Given the description of an element on the screen output the (x, y) to click on. 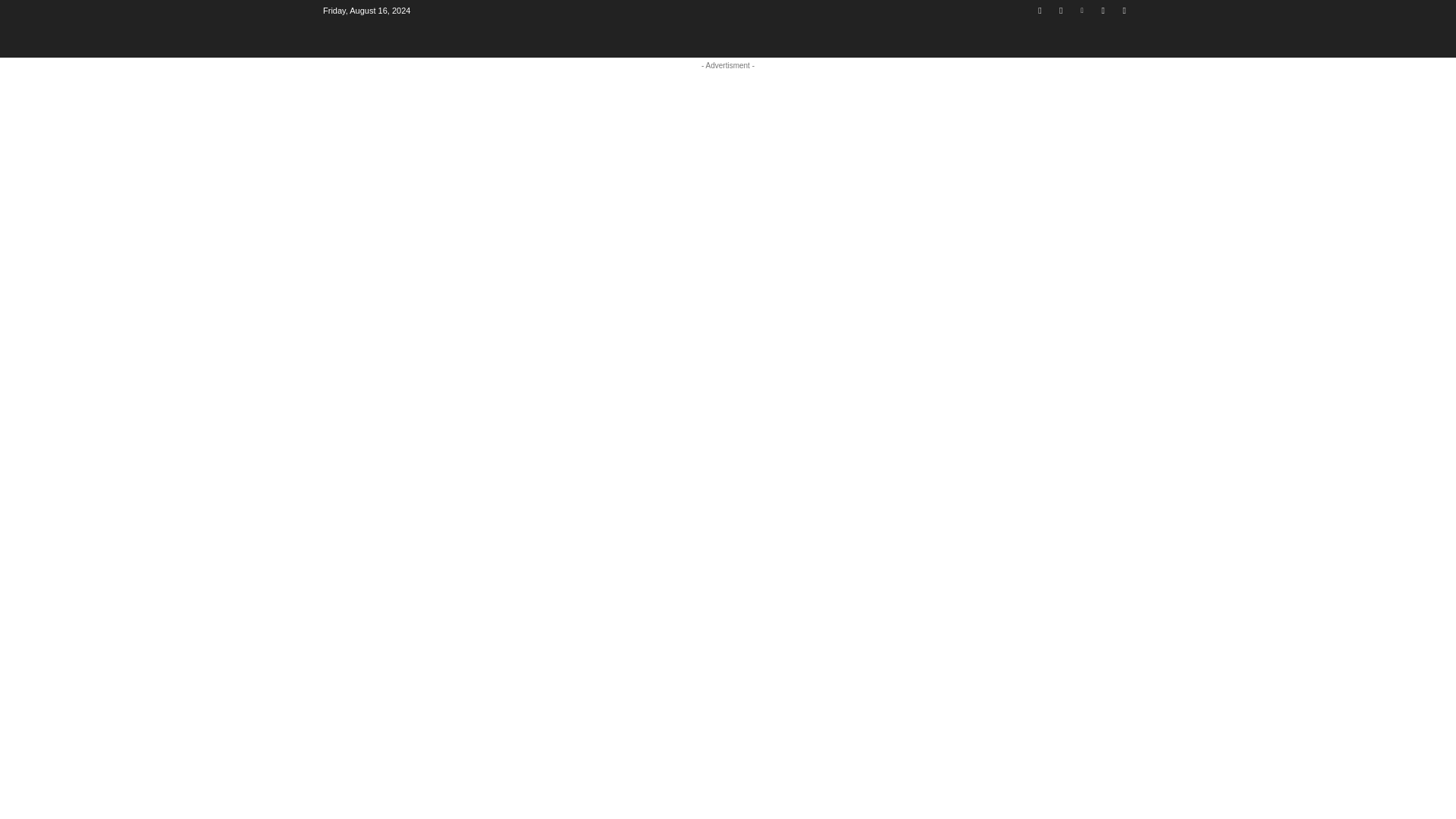
Linkedin (1082, 9)
Facebook (1039, 9)
Twitter (1123, 9)
Rss (1103, 9)
Youtube (1061, 9)
